Given the description of an element on the screen output the (x, y) to click on. 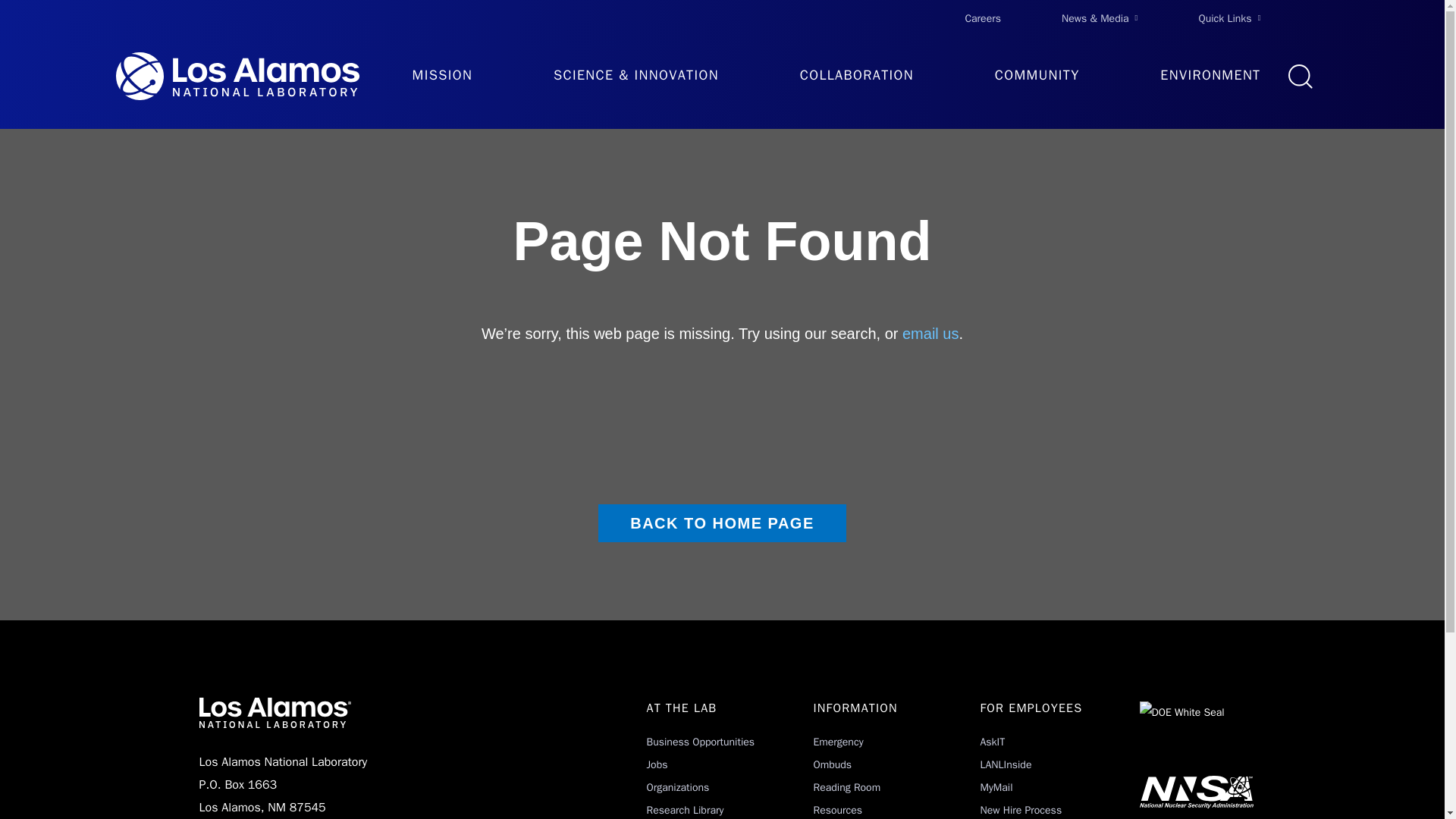
BACK TO HOME PAGE (721, 523)
Emergency (837, 741)
AskIT (991, 741)
email us (930, 333)
Jobs (656, 764)
Resources (836, 809)
Reading Room (846, 787)
Business Opportunities (700, 741)
Ombuds (831, 764)
Careers (982, 18)
